Given the description of an element on the screen output the (x, y) to click on. 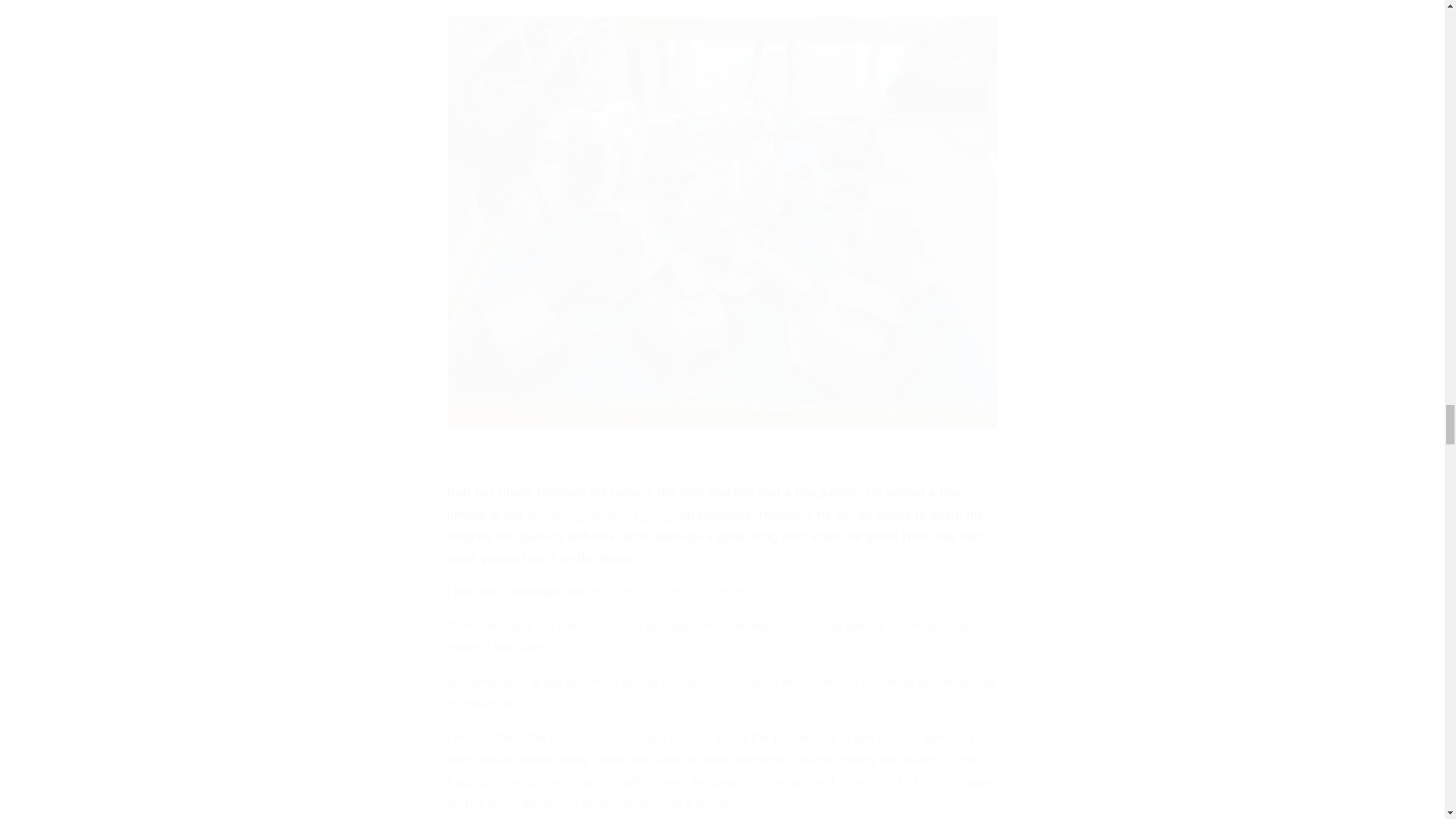
Brutal City Builders Facebook Group (602, 513)
Brutal Cities Translucent Plastic Scifi Terrain (681, 591)
